Given the description of an element on the screen output the (x, y) to click on. 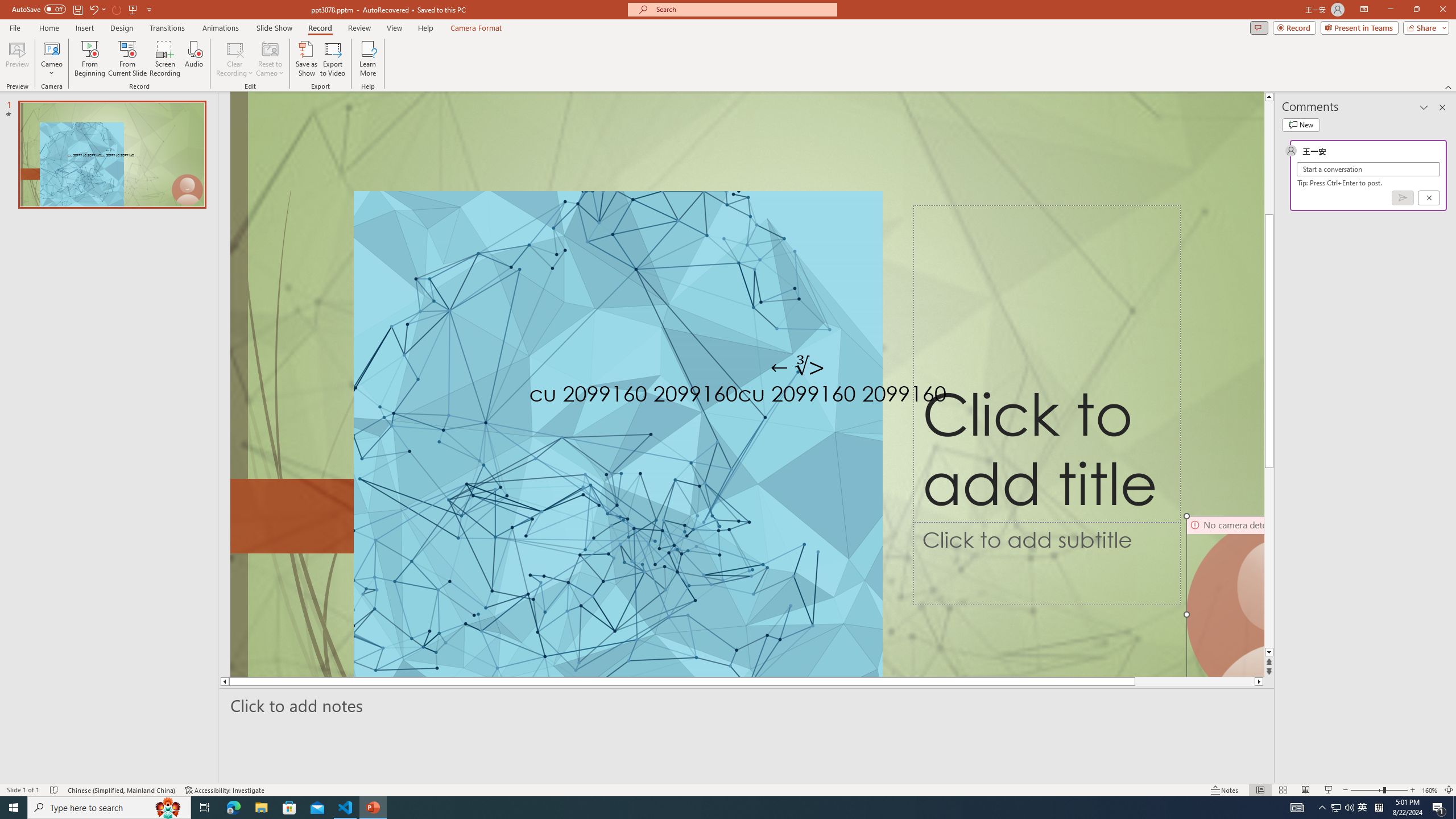
Start a conversation (1368, 168)
